Given the description of an element on the screen output the (x, y) to click on. 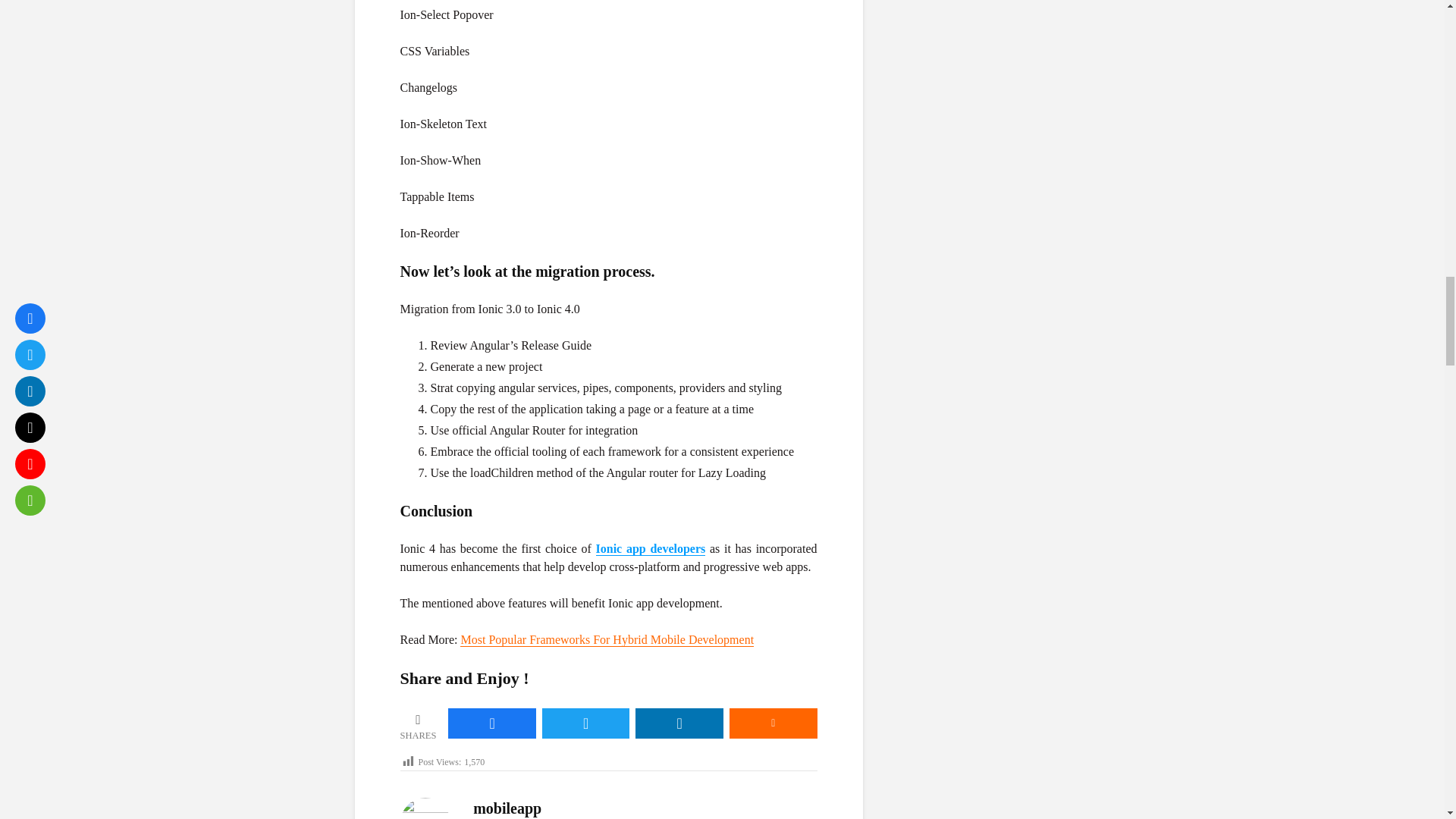
Add this to LinkedIn (678, 723)
More share links (772, 723)
Tweet this ! (585, 723)
Share this on Facebook (491, 723)
